Given the description of an element on the screen output the (x, y) to click on. 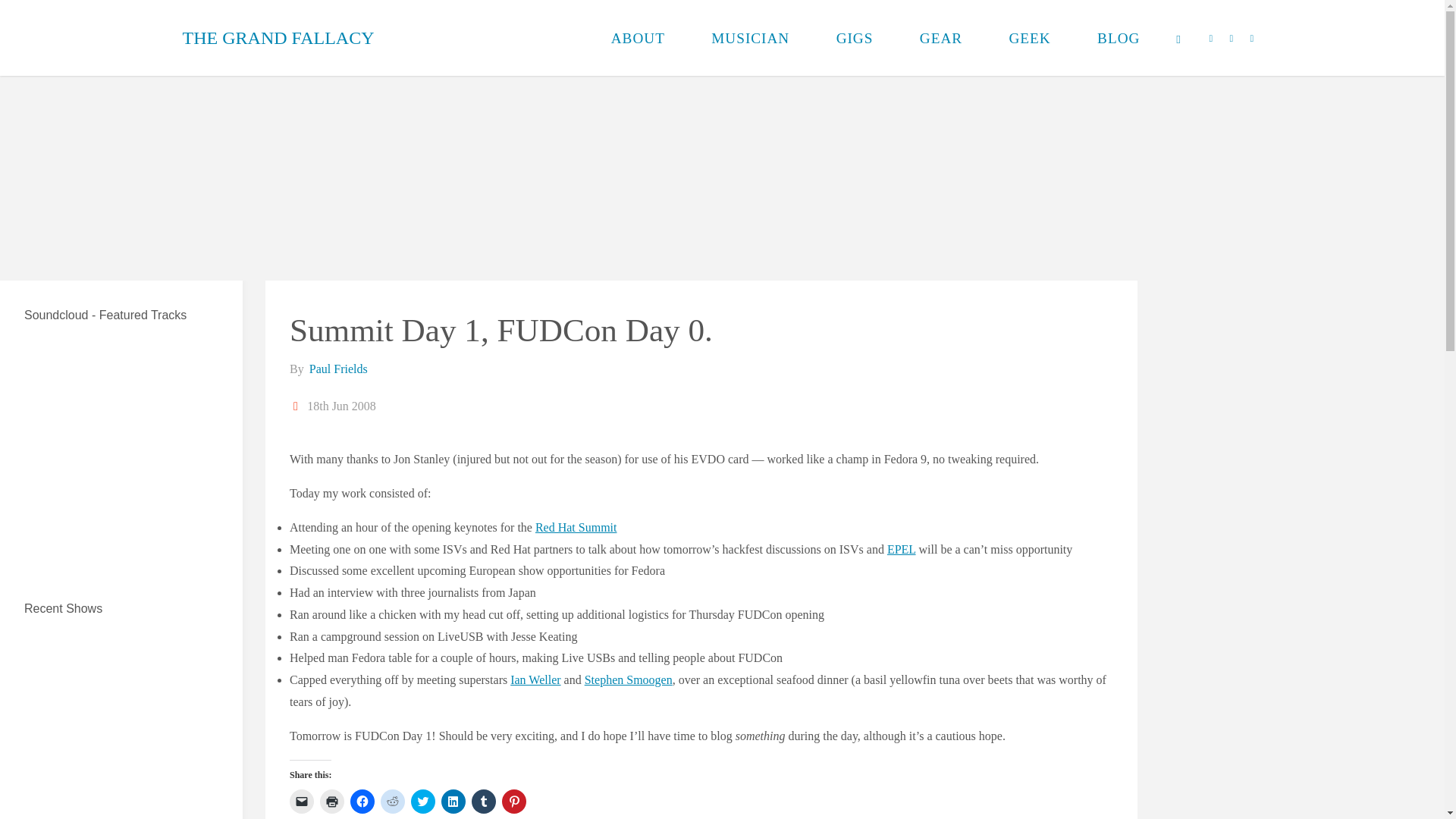
Click to share on Twitter (422, 801)
Stephen Smoogen (628, 679)
Ian Weller (535, 679)
View all posts by Paul Frields (337, 368)
Red Hat Summit (576, 526)
THE GRAND FALLACY (278, 37)
Paul Frields (337, 368)
Click to share on Facebook (362, 801)
Click to share on Reddit (392, 801)
